Given the description of an element on the screen output the (x, y) to click on. 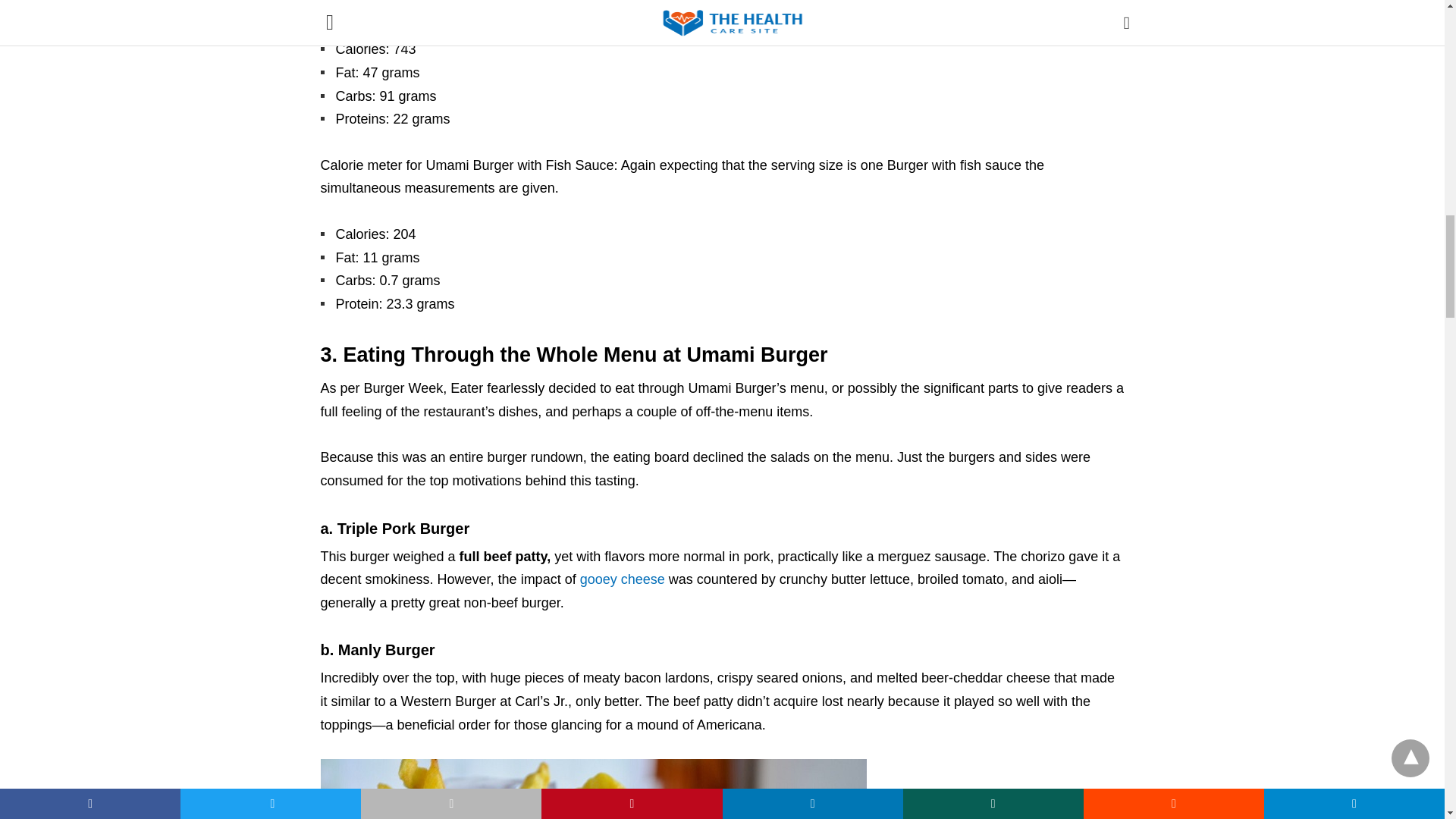
gooey cheese (622, 579)
